Given the description of an element on the screen output the (x, y) to click on. 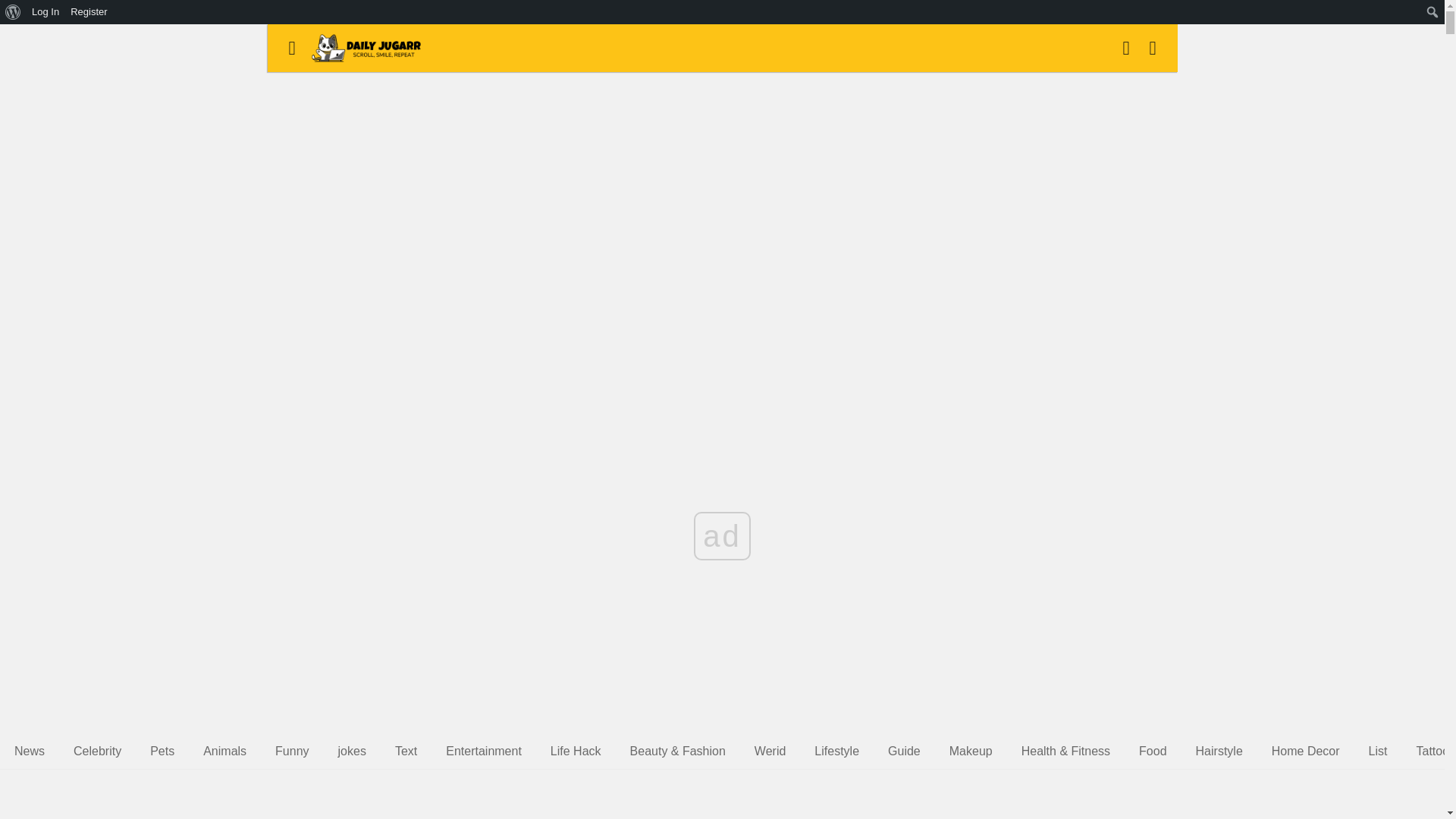
Pets (162, 751)
Pets (162, 751)
News (29, 751)
Werid (769, 751)
News (29, 751)
Life Hack (575, 751)
Animals (224, 751)
Search (15, 12)
Text (406, 751)
Lifestyle (836, 751)
Funny (291, 751)
Funny (291, 751)
jokes (351, 751)
jokes (351, 751)
